Given the description of an element on the screen output the (x, y) to click on. 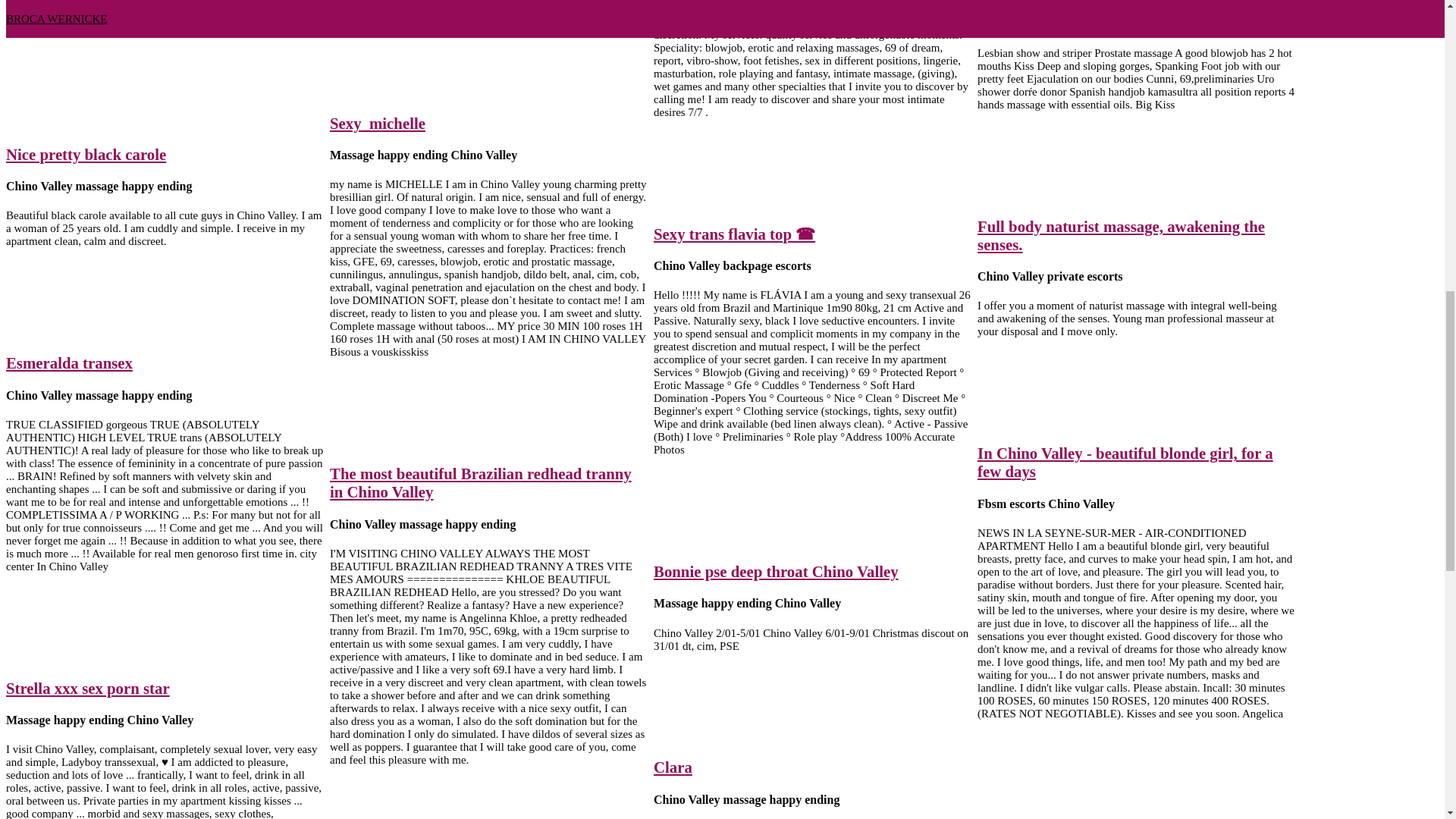
Bonnie pse deep throat Chino Valley (775, 570)
Nice pretty black carole (85, 153)
The most beautiful Brazilian redhead tranny in Chino Valley (480, 482)
Esmeralda transex (68, 362)
Strella xxx sex porn star (87, 687)
Clara (673, 766)
